Given the description of an element on the screen output the (x, y) to click on. 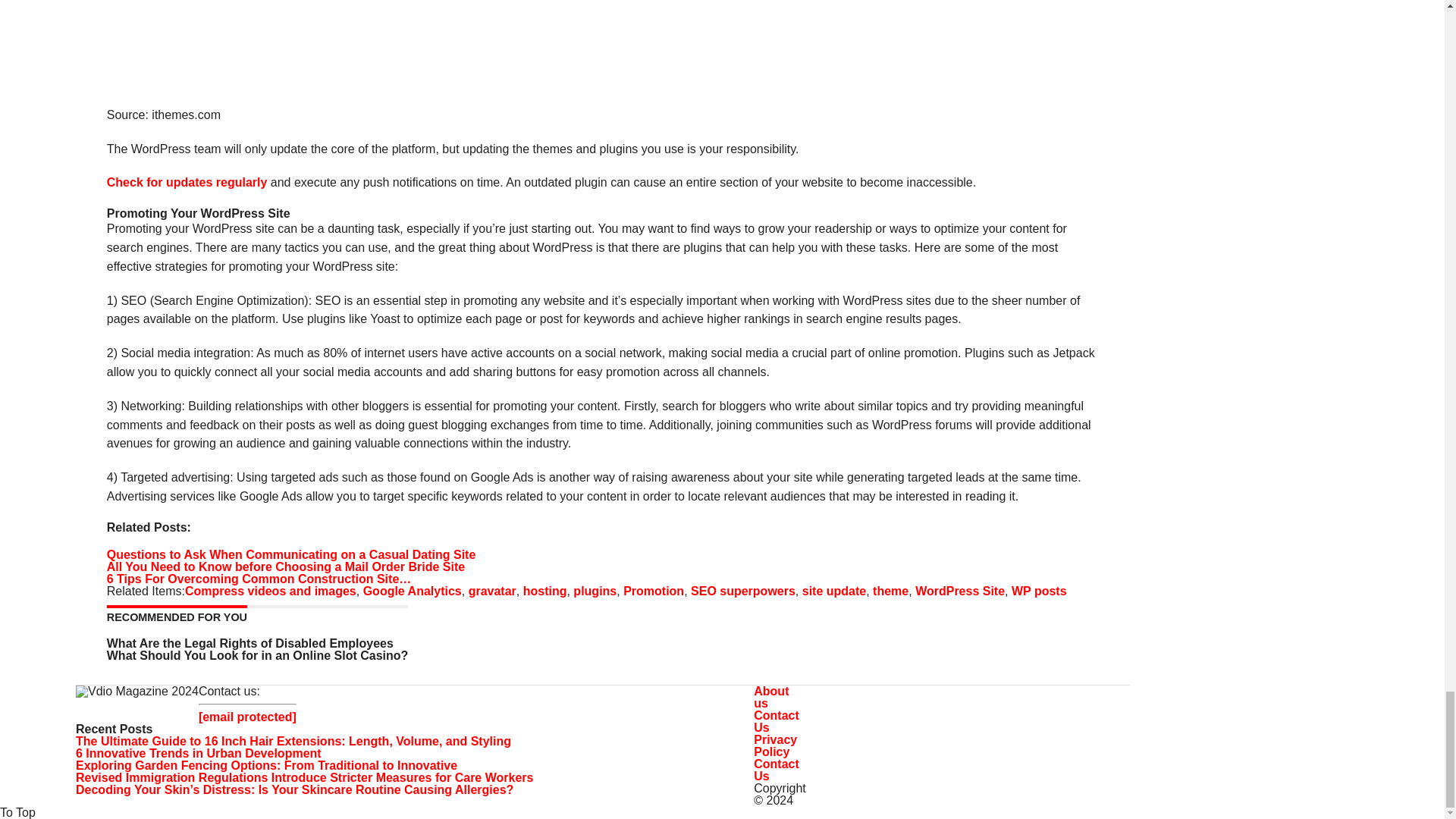
Compress videos and images (270, 590)
gravatar (492, 590)
Questions to Ask When Communicating on a Casual Dating Site (291, 554)
Google Analytics (411, 590)
Promotion (653, 590)
All You Need to Know before Choosing a Mail Order Bride Site (285, 566)
Check for updates regularly (186, 182)
hosting (544, 590)
plugins (594, 590)
